Given the description of an element on the screen output the (x, y) to click on. 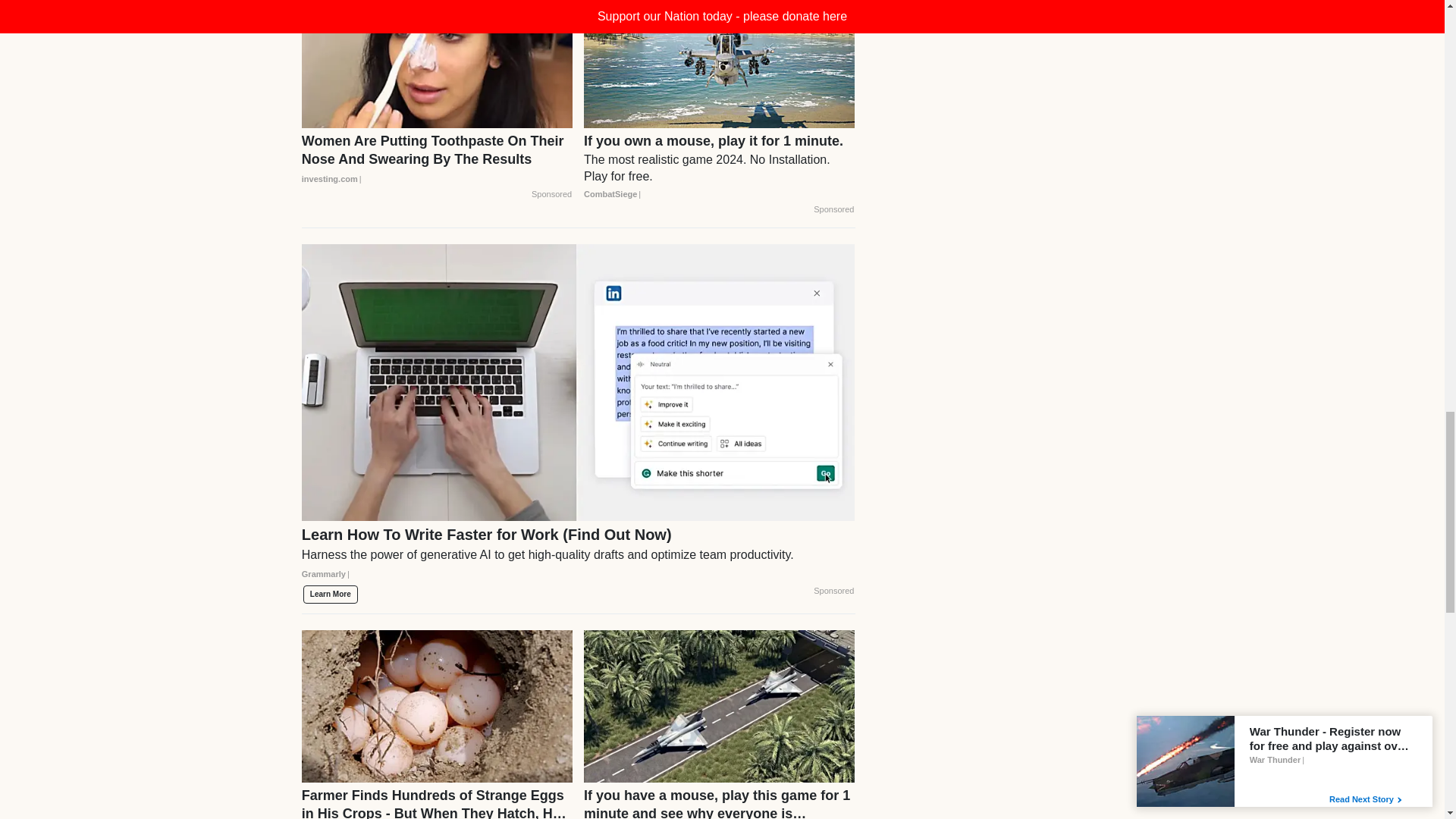
Sponsored (551, 194)
Sponsored (833, 209)
If you own a mouse, play it for 1 minute. (718, 167)
